Given the description of an element on the screen output the (x, y) to click on. 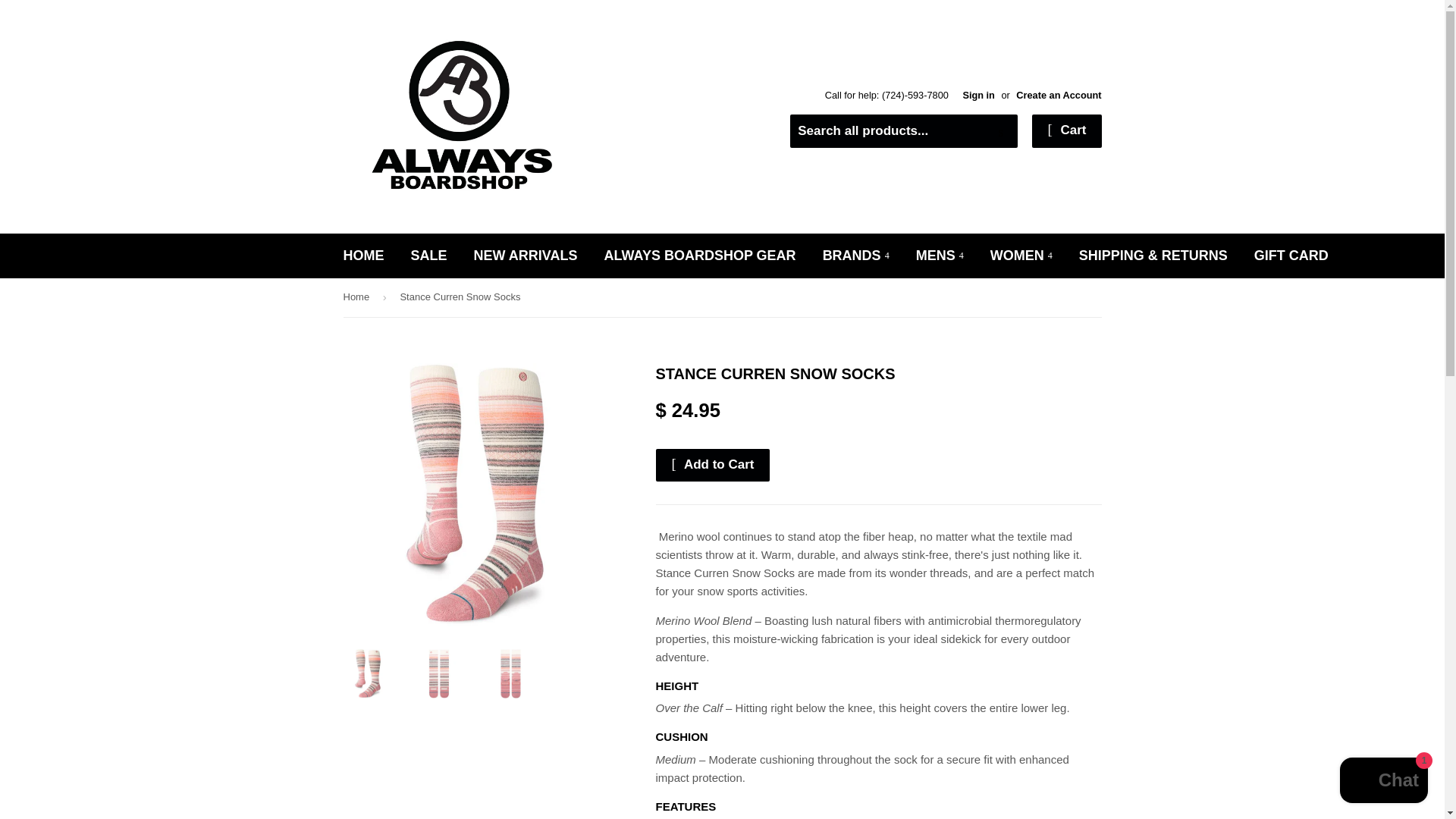
NEW ARRIVALS (526, 255)
Search (1000, 132)
Create an Account (1058, 94)
Shopify online store chat (1383, 781)
Cart (1066, 131)
Sign in (978, 94)
HOME (363, 255)
ALWAYS BOARDSHOP GEAR (700, 255)
SALE (428, 255)
BRANDS (855, 255)
